Given the description of an element on the screen output the (x, y) to click on. 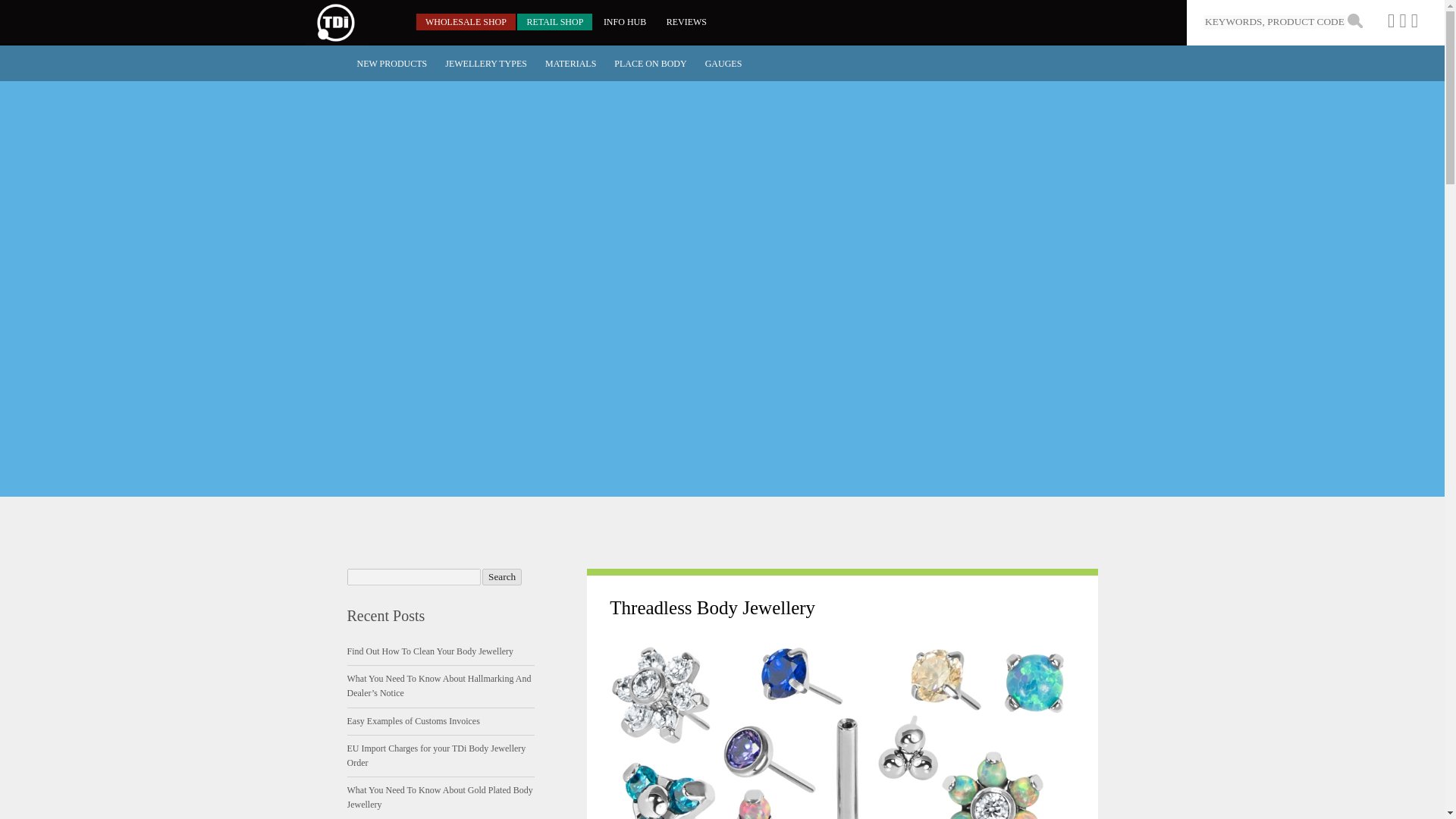
GAUGES (723, 63)
REVIEWS (687, 21)
NEW PRODUCTS (391, 63)
Look EU Import Charges for your TDi Body Jewellery Order (436, 755)
Look Easy Examples of Customs Invoices (413, 720)
WHOLESALE SHOP (465, 21)
MATERIALS (570, 63)
PLACE ON BODY (650, 63)
RETAIL SHOP (554, 21)
Look Find Out How To Clean Your Body Jewellery (430, 651)
